Given the description of an element on the screen output the (x, y) to click on. 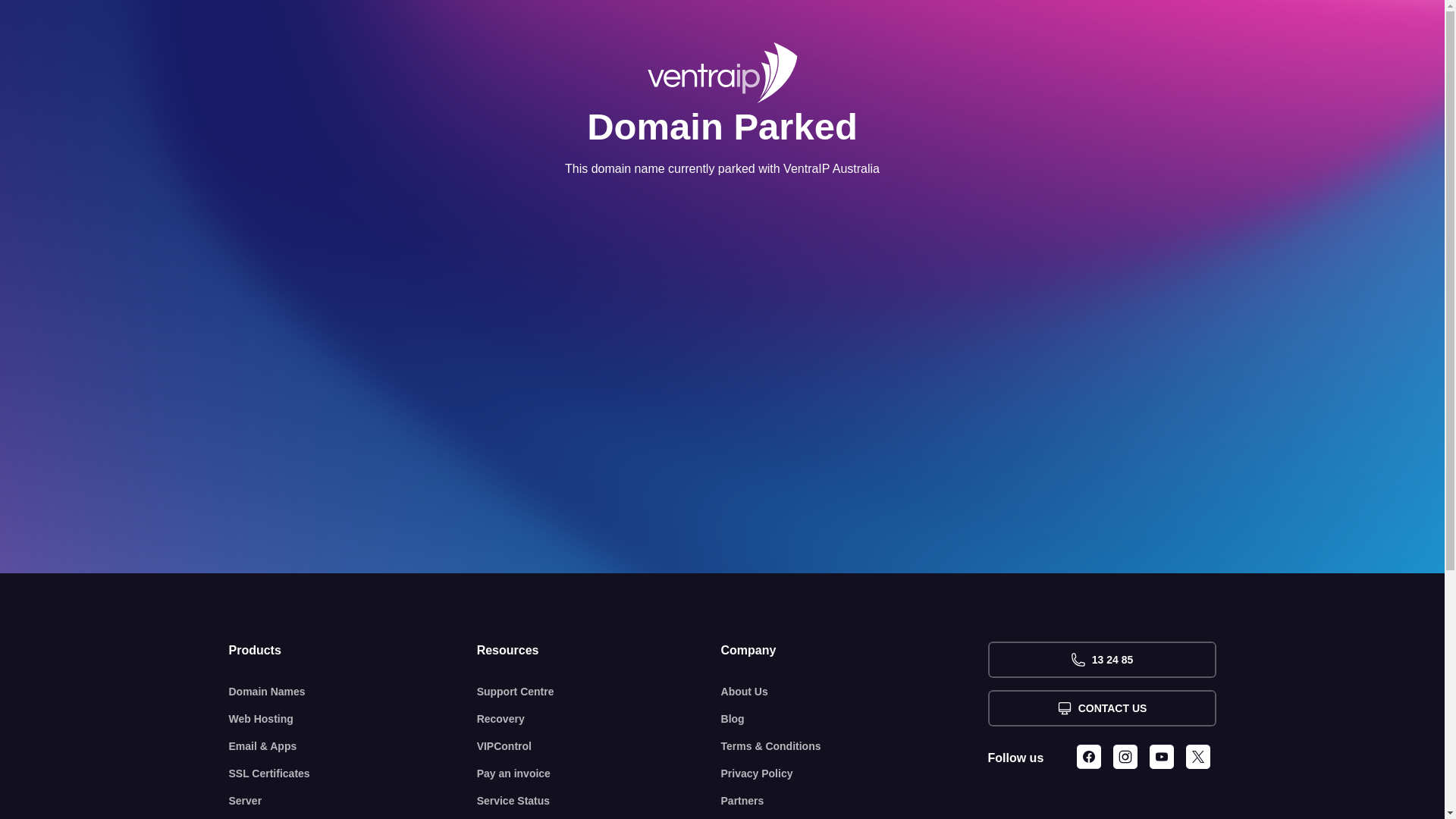
Blog Element type: text (854, 718)
Partners Element type: text (854, 800)
Domain Names Element type: text (352, 691)
Web Hosting Element type: text (352, 718)
Pay an invoice Element type: text (598, 773)
VIPControl Element type: text (598, 745)
Support Centre Element type: text (598, 691)
Terms & Conditions Element type: text (854, 745)
CONTACT US Element type: text (1101, 708)
About Us Element type: text (854, 691)
Server Element type: text (352, 800)
Service Status Element type: text (598, 800)
SSL Certificates Element type: text (352, 773)
13 24 85 Element type: text (1101, 659)
Recovery Element type: text (598, 718)
Email & Apps Element type: text (352, 745)
Privacy Policy Element type: text (854, 773)
